Given the description of an element on the screen output the (x, y) to click on. 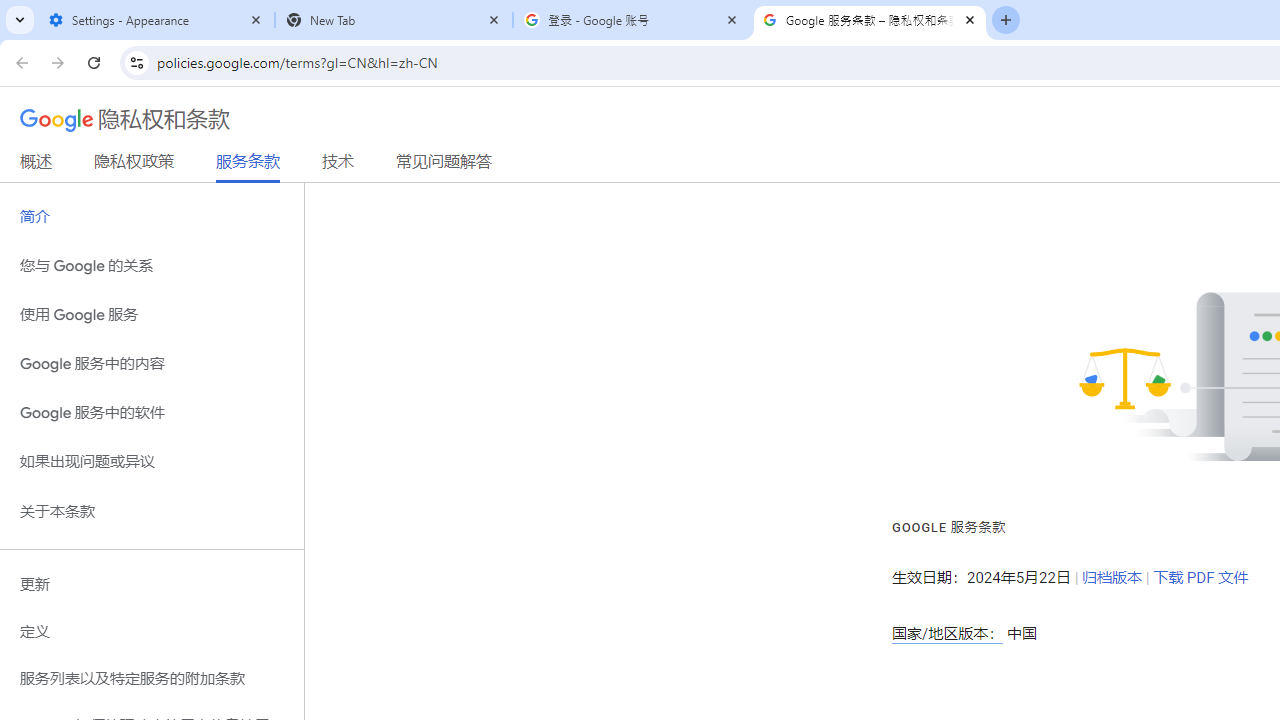
Settings - Appearance (156, 20)
New Tab (394, 20)
